Given the description of an element on the screen output the (x, y) to click on. 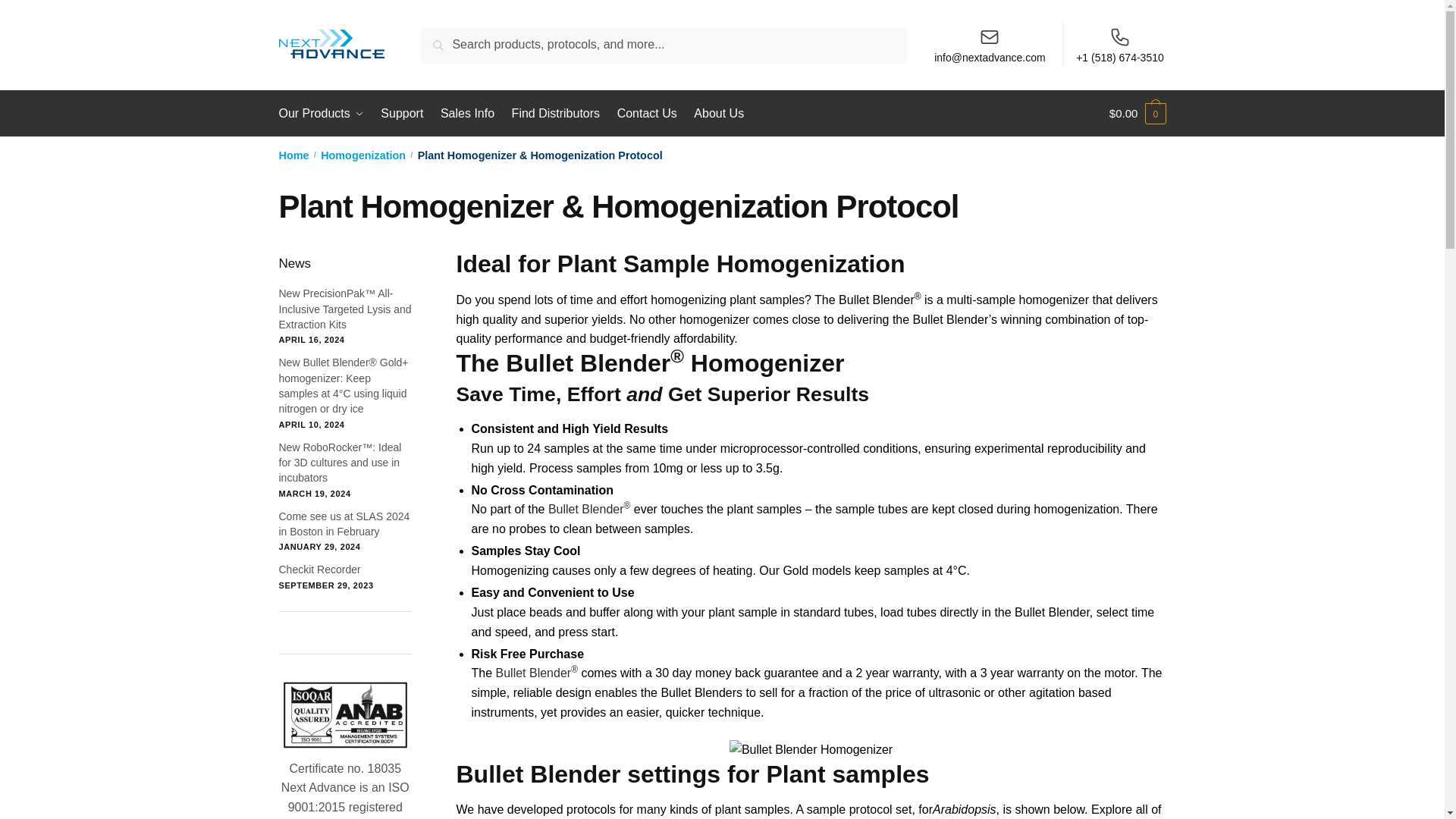
Search (444, 38)
Homogenization (363, 155)
Sales Info (466, 113)
View your shopping cart (1137, 113)
About Us (719, 113)
Home (293, 155)
Find Distributors (556, 113)
Contact Us (647, 113)
Support (402, 113)
Our Products (325, 113)
